Given the description of an element on the screen output the (x, y) to click on. 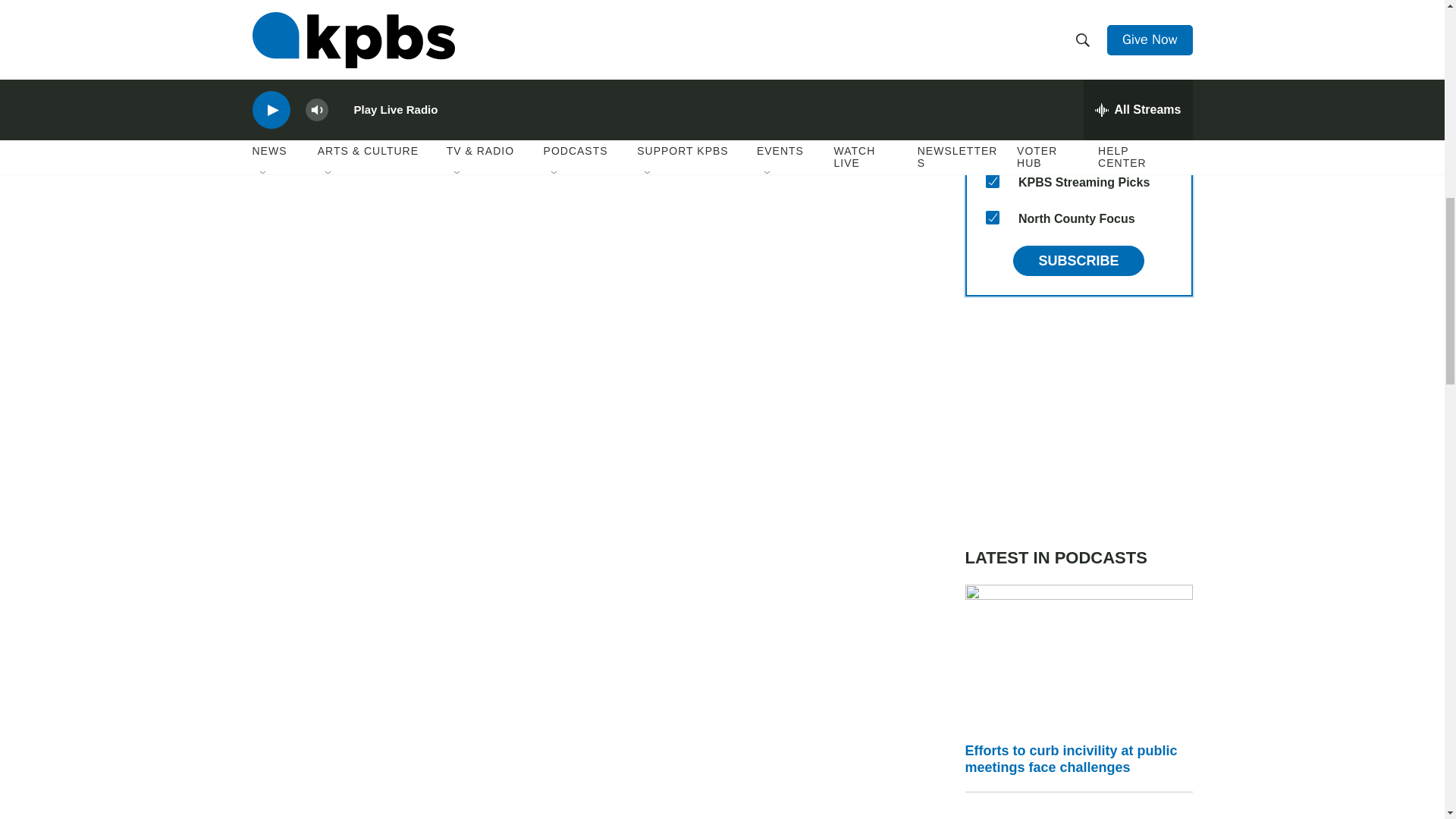
15 (991, 217)
1 (991, 144)
5 (991, 35)
8 (991, 181)
4 (991, 2)
2 (991, 108)
6 (991, 71)
